Given the description of an element on the screen output the (x, y) to click on. 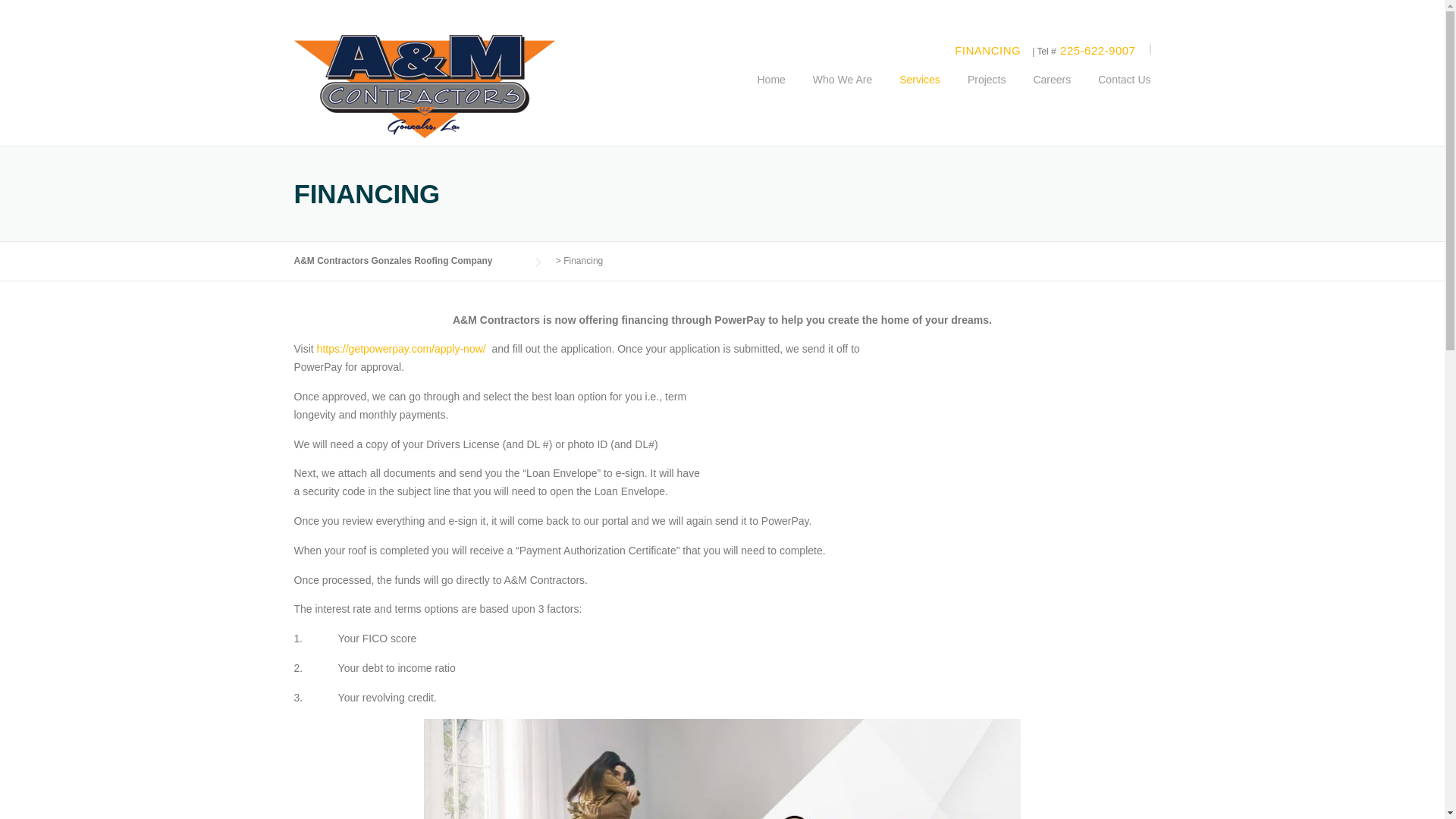
Home (769, 91)
Projects (986, 91)
Who We Are (842, 91)
FINANCING (987, 50)
Contact Us (1117, 91)
Services (919, 91)
Careers (1051, 91)
